Given the description of an element on the screen output the (x, y) to click on. 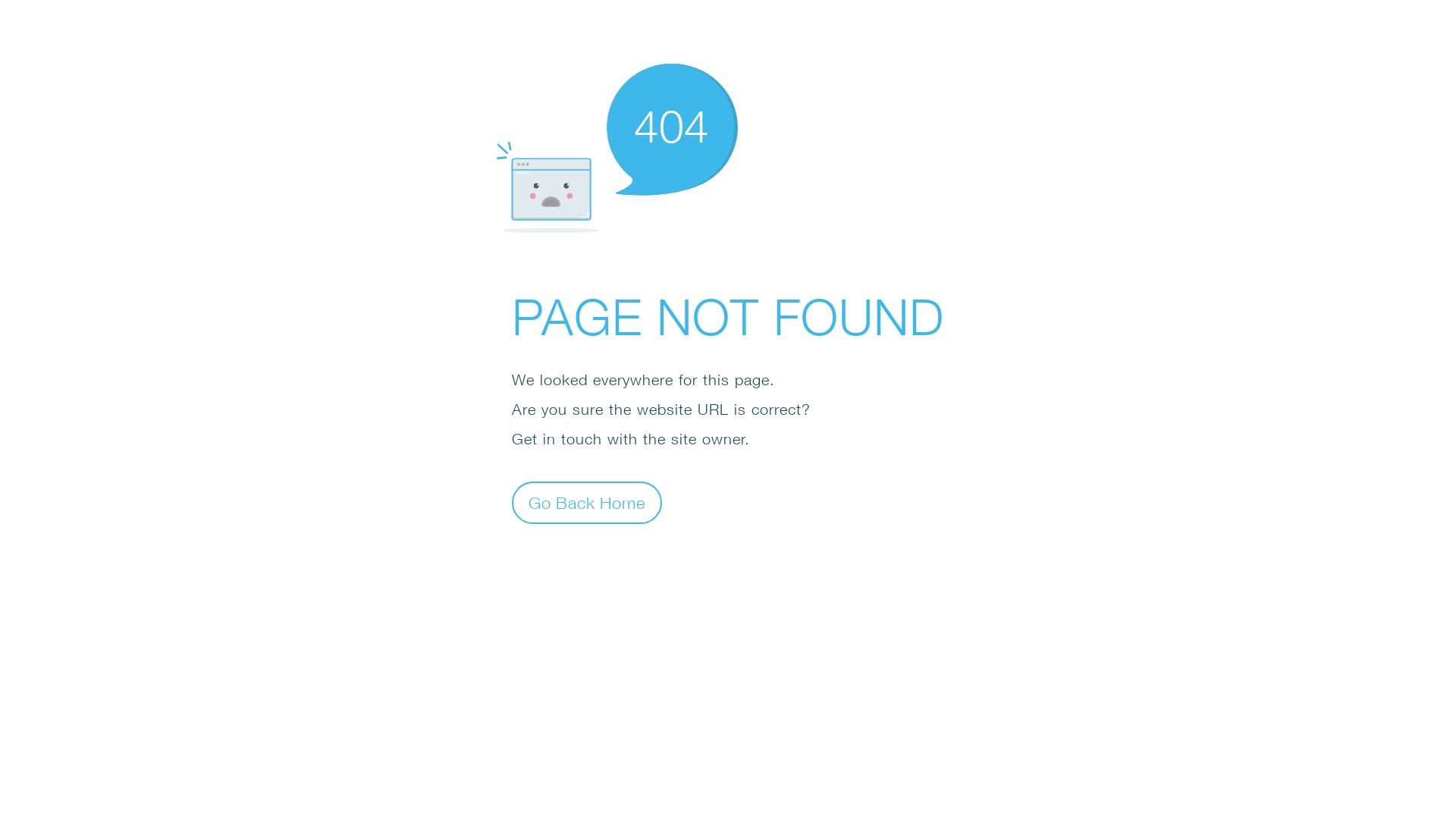
Go Back Home Element type: text (586, 502)
